Given the description of an element on the screen output the (x, y) to click on. 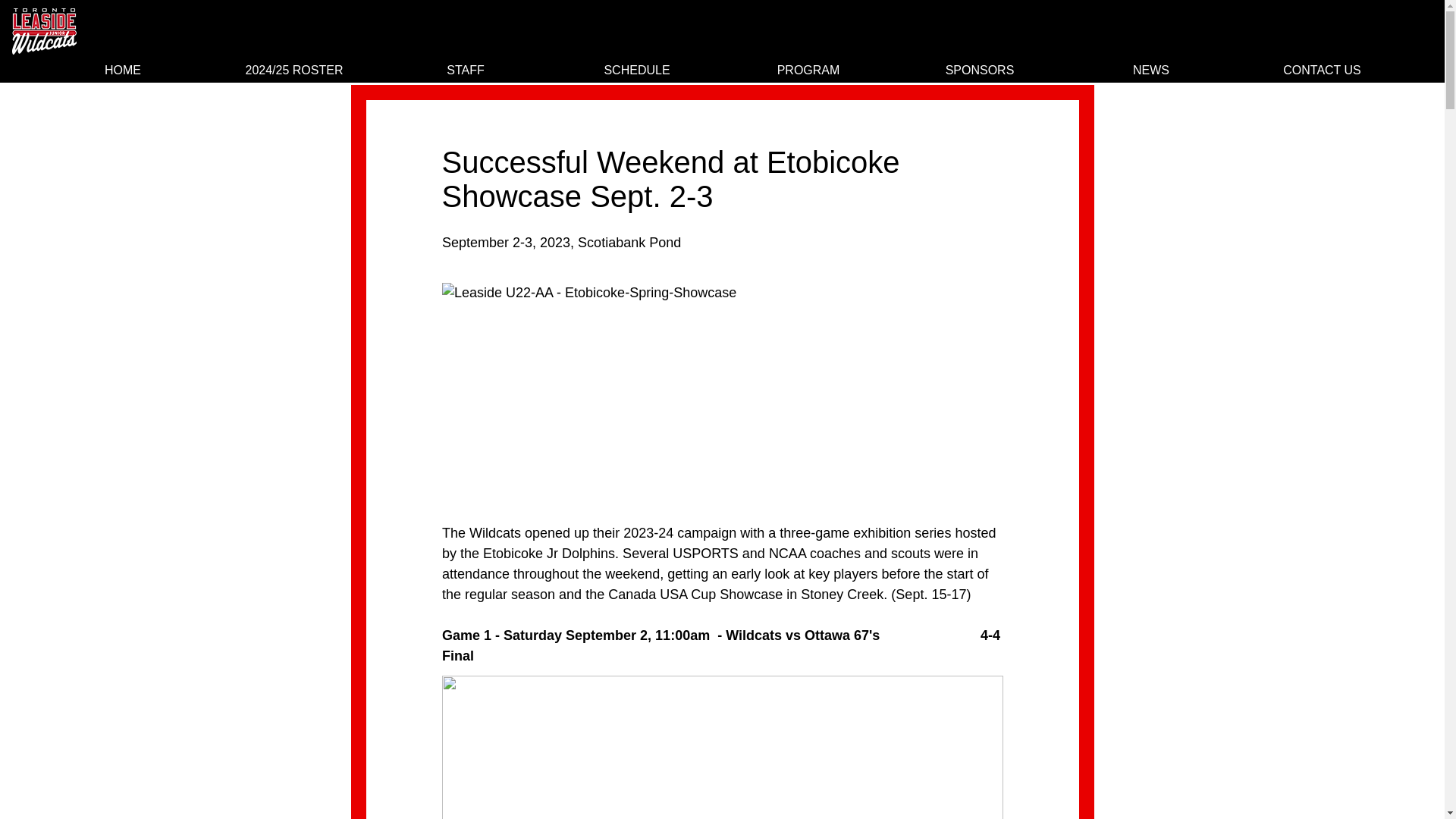
HOME (122, 69)
NEWS (1150, 69)
CONTACT US (1321, 69)
STAFF (465, 69)
SPONSORS (979, 69)
SCHEDULE (636, 69)
PROGRAM (807, 69)
